Given the description of an element on the screen output the (x, y) to click on. 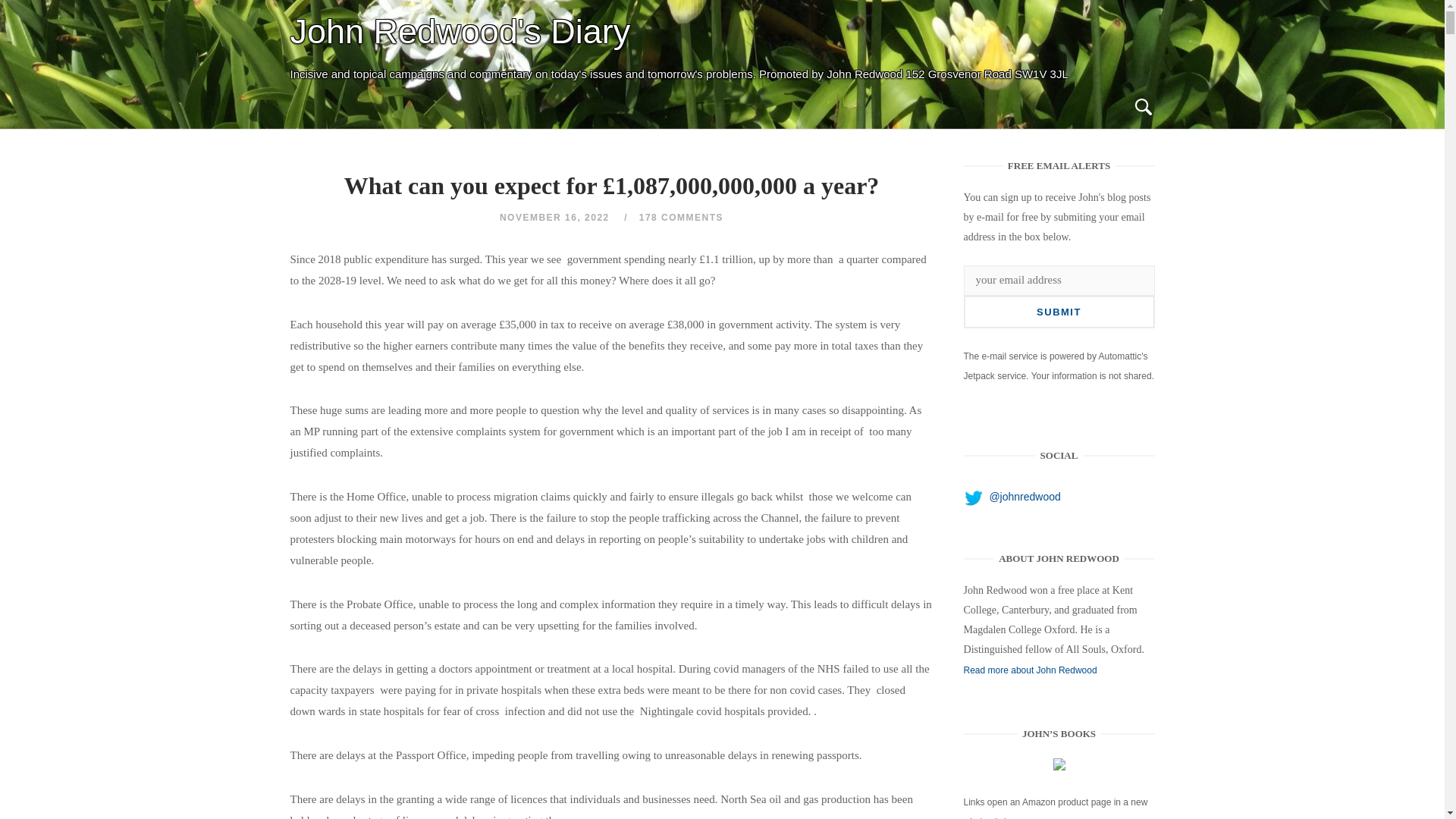
Submit (1058, 311)
Submit (1058, 311)
Search the diary for relevant articles (1142, 107)
Read more about John Redwood (1030, 670)
